Given the description of an element on the screen output the (x, y) to click on. 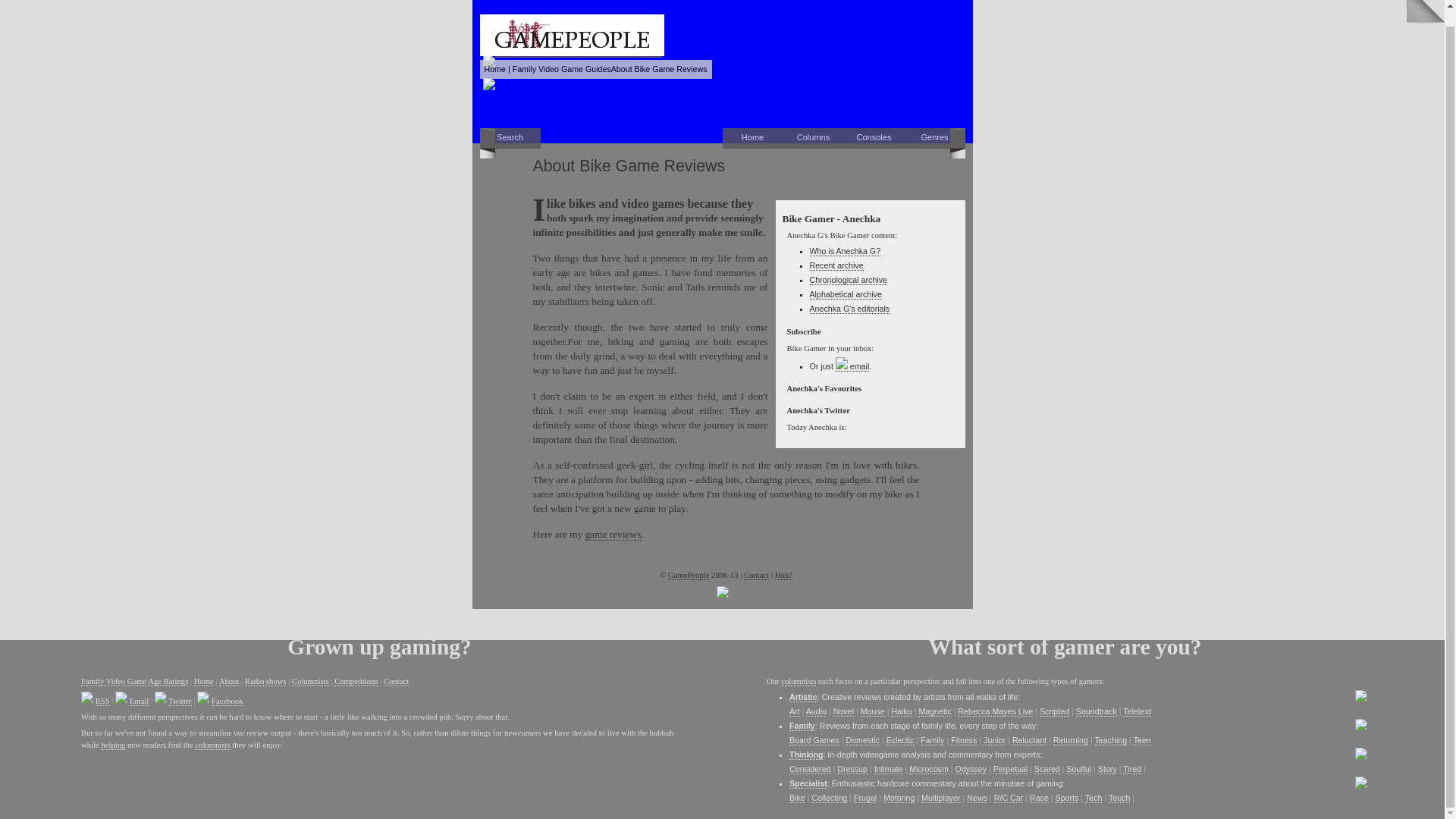
Columns (813, 137)
Breadcrumb Trail (595, 68)
Home (752, 137)
Home (494, 68)
Search (509, 137)
Family Video Game Guides (561, 68)
